Given the description of an element on the screen output the (x, y) to click on. 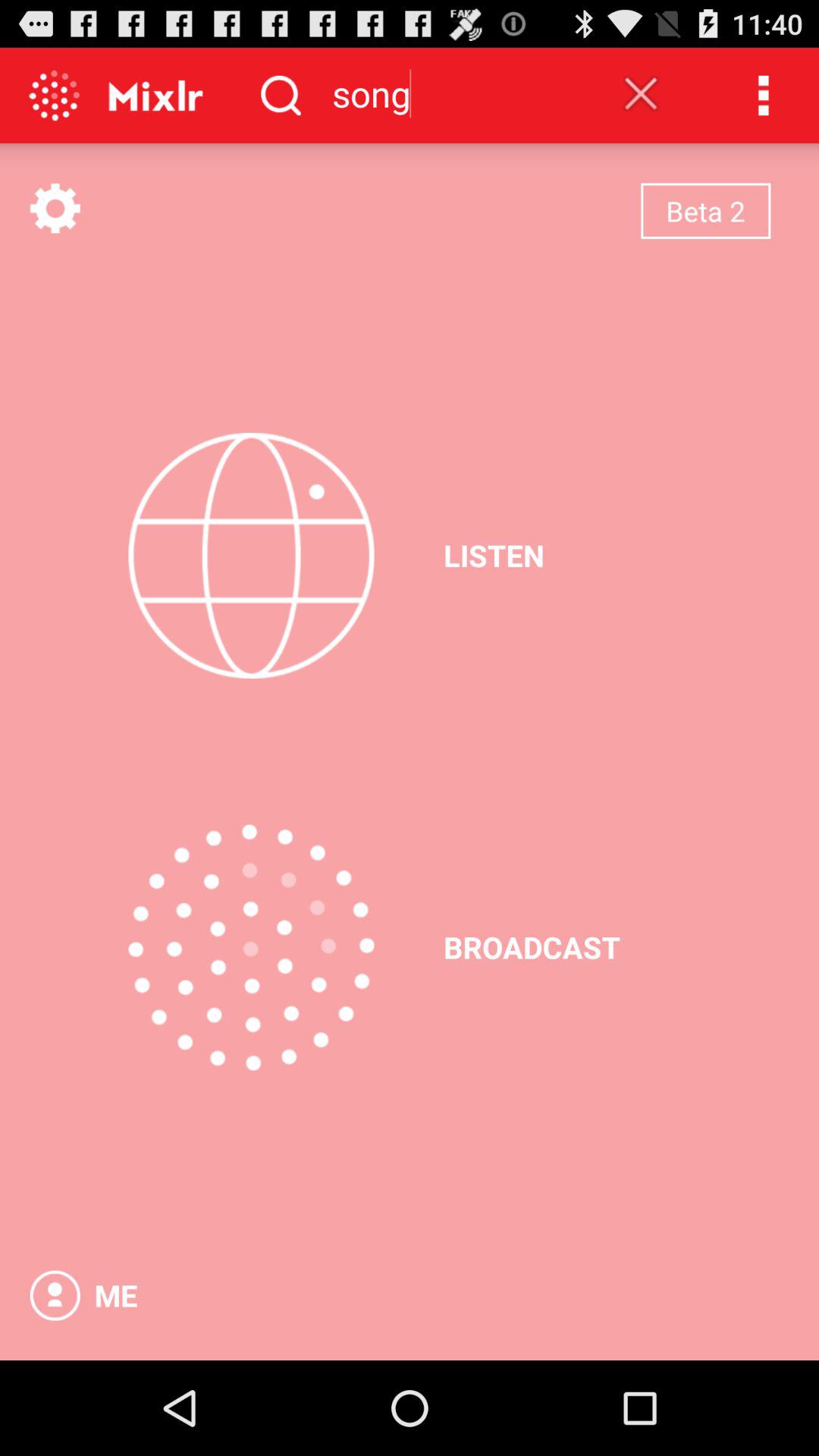
tap the app next to broadcast icon (251, 947)
